Given the description of an element on the screen output the (x, y) to click on. 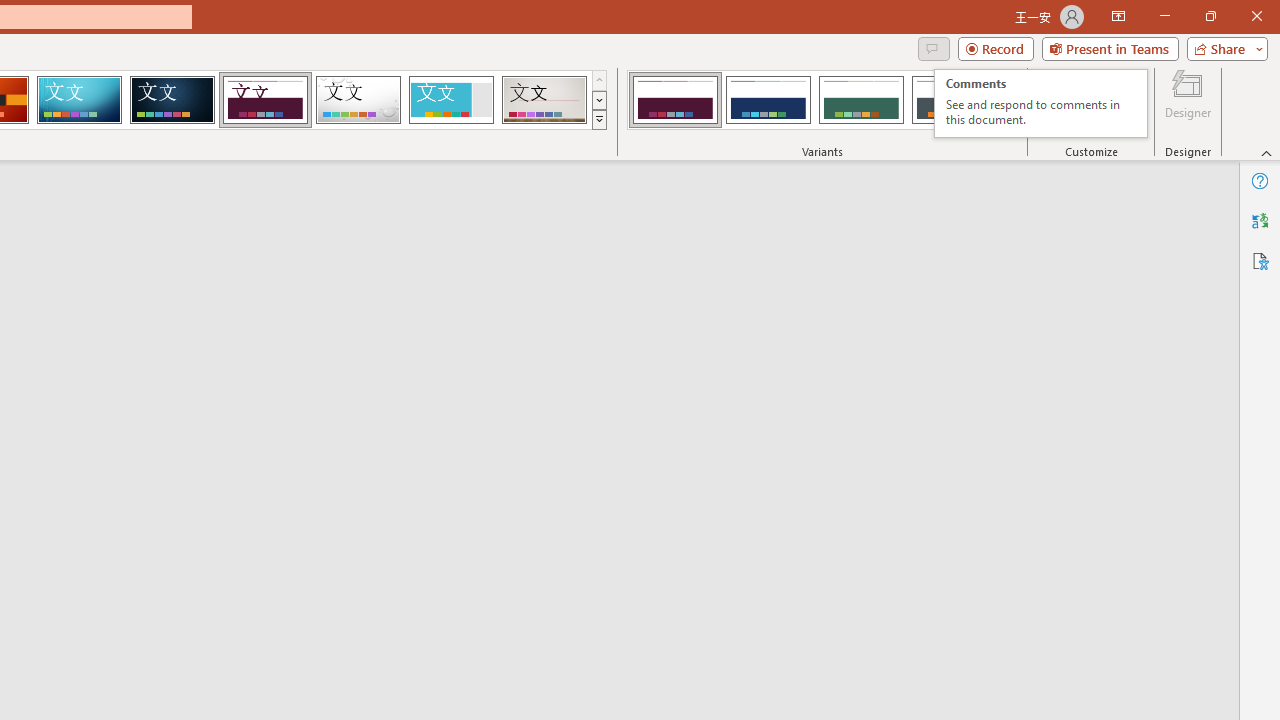
Variants (1009, 120)
